Given the description of an element on the screen output the (x, y) to click on. 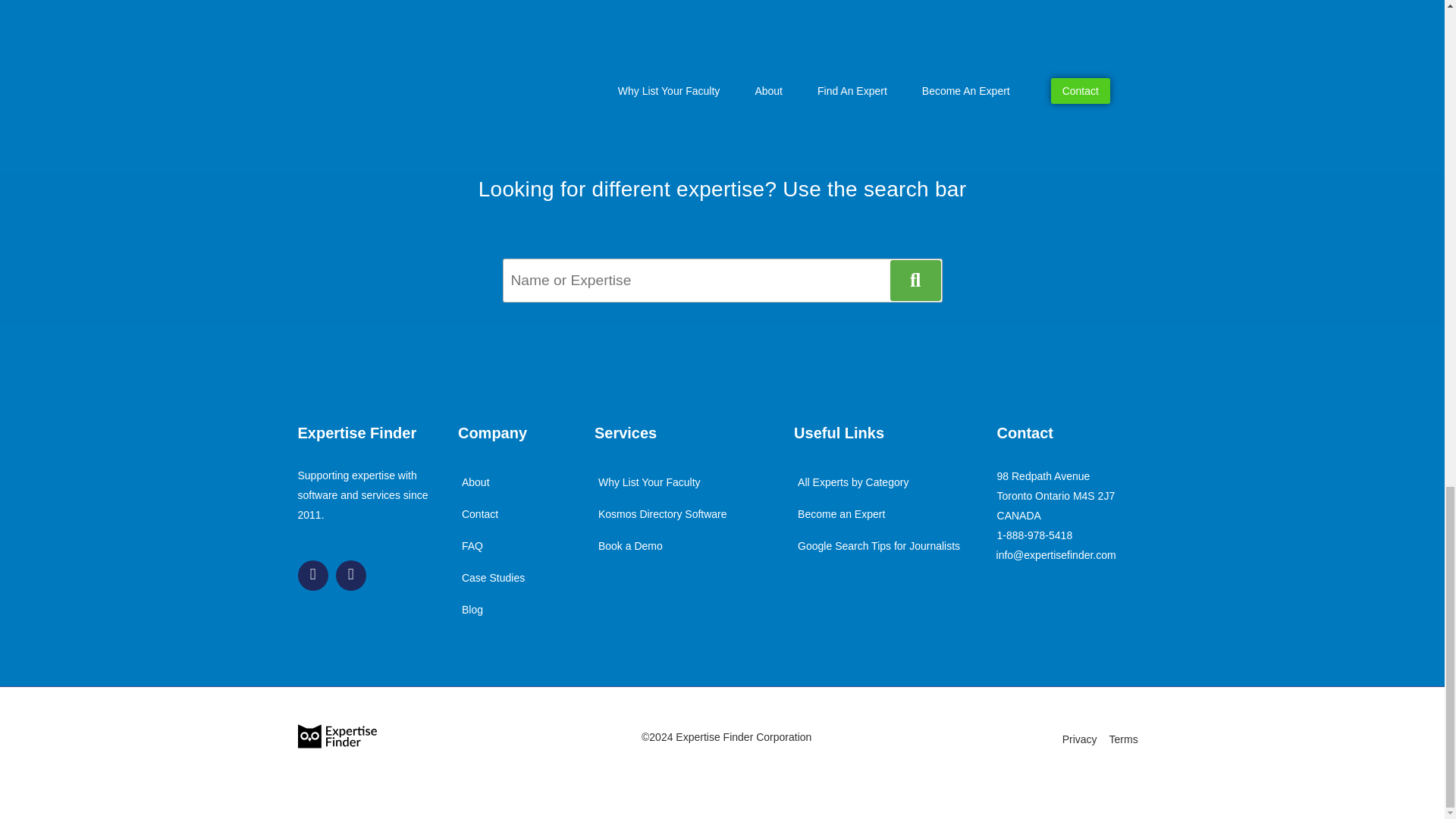
Book a Demo (629, 545)
Privacy (1079, 739)
Case Studies (492, 577)
About (475, 481)
Why List Your Faculty (648, 481)
Expertise Finder (356, 433)
Google Search Tips for Journalists (877, 545)
Become an Expert (839, 513)
See a full list of Bridges Experts here (722, 86)
Contact (479, 513)
